Given the description of an element on the screen output the (x, y) to click on. 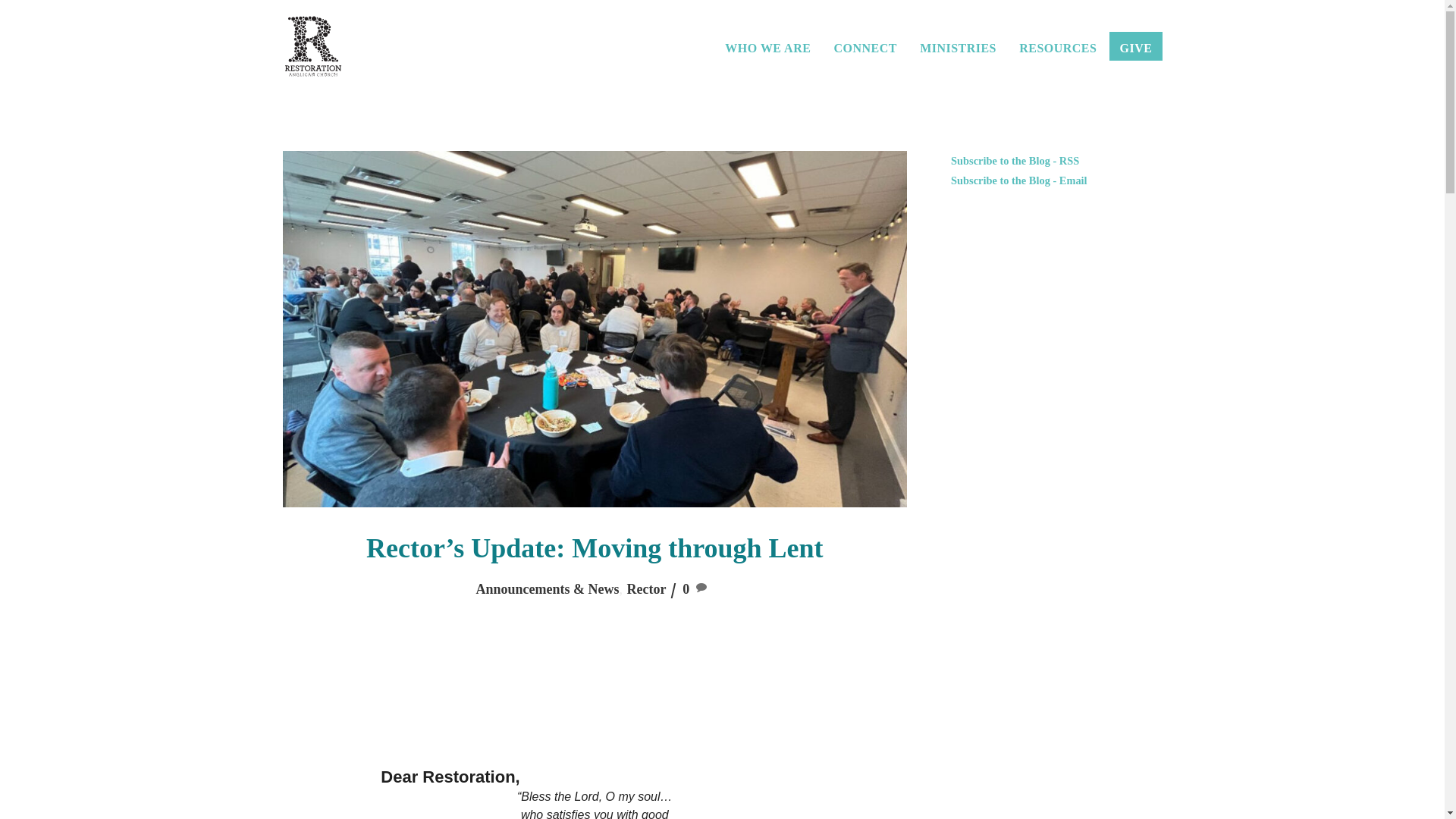
MINISTRIES (958, 48)
Restoration Anglican Church (312, 67)
GIVE (1135, 47)
CONNECT (865, 48)
RESOURCES (1057, 48)
WHO WE ARE (767, 48)
